Given the description of an element on the screen output the (x, y) to click on. 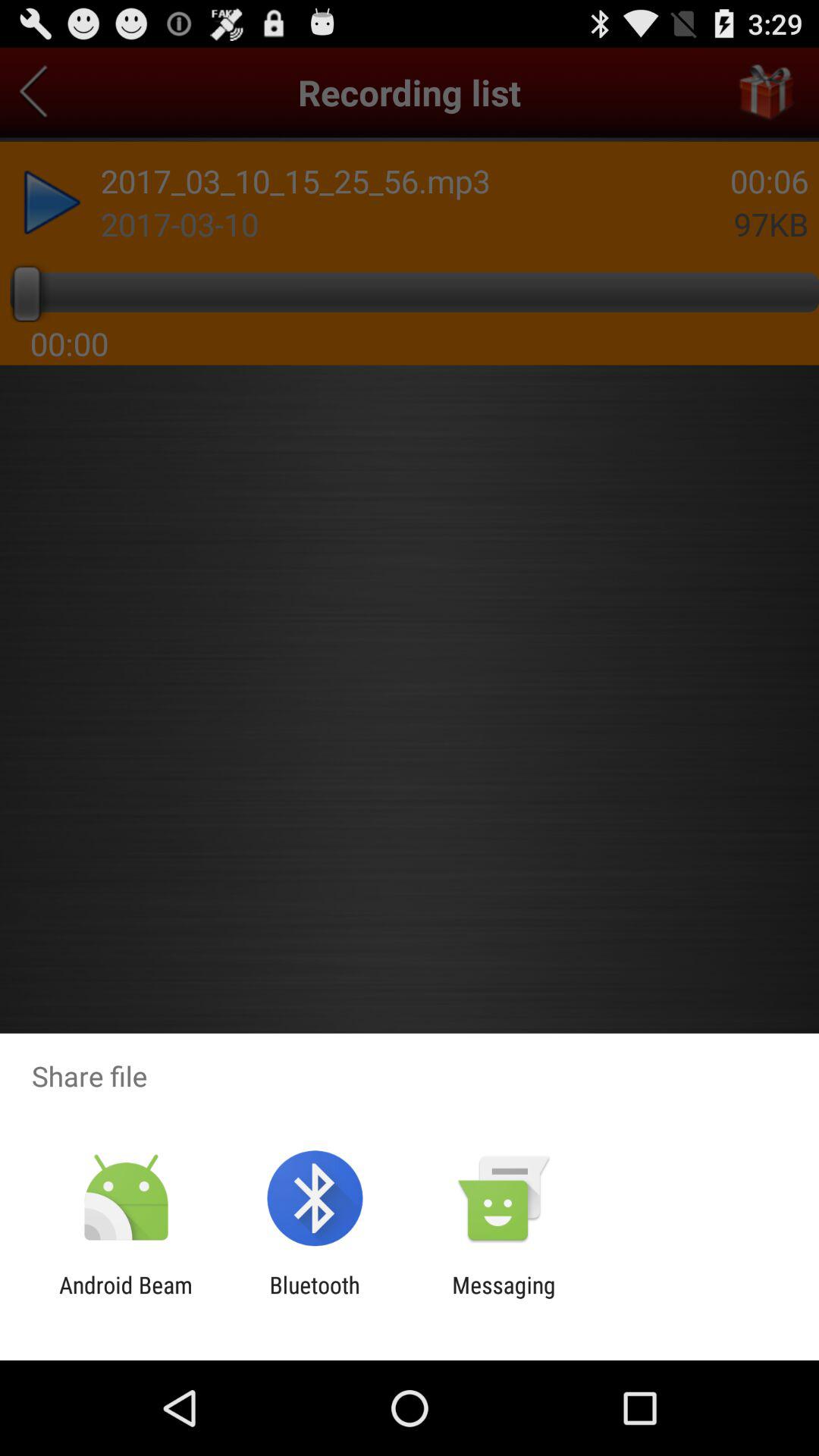
press item to the left of the messaging item (314, 1298)
